Given the description of an element on the screen output the (x, y) to click on. 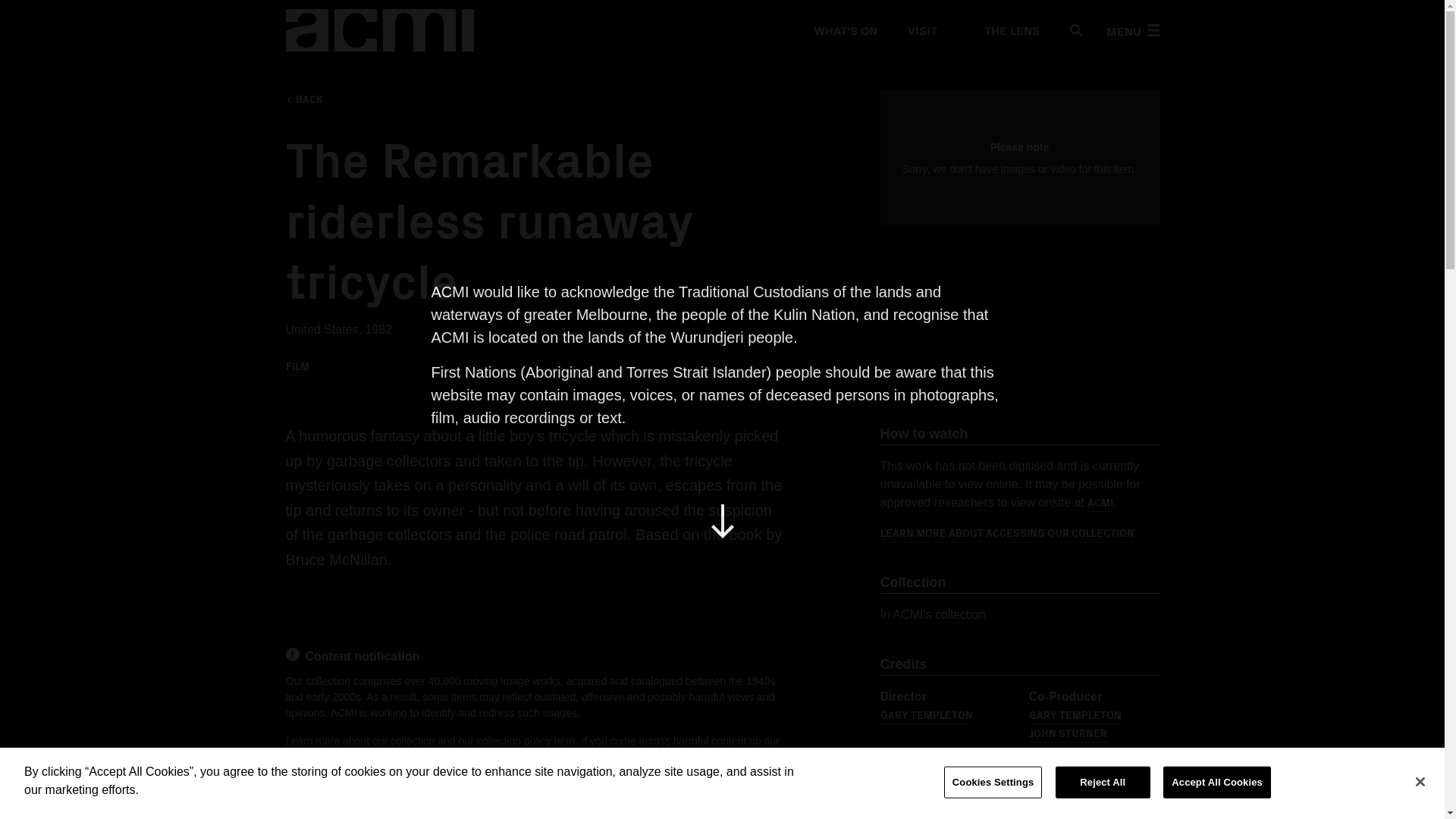
MENU (1131, 29)
THE LENS (1003, 30)
WHAT'S ON (844, 30)
VISIT (921, 30)
